Given the description of an element on the screen output the (x, y) to click on. 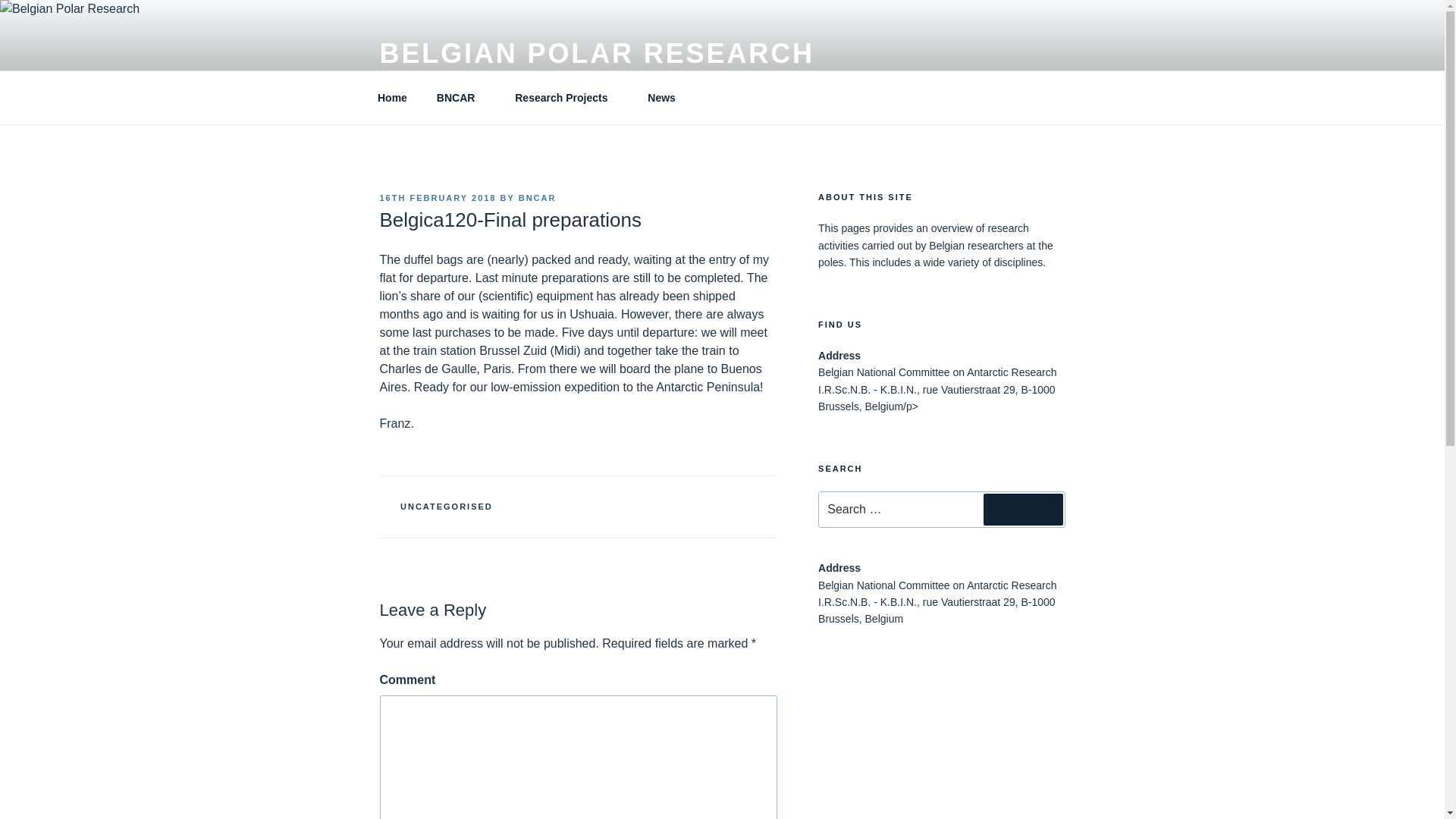
Search (1023, 509)
Home (392, 97)
BNCAR (461, 97)
BNCAR (537, 197)
UNCATEGORISED (446, 506)
16TH FEBRUARY 2018 (437, 197)
BELGIAN POLAR RESEARCH (595, 52)
News (661, 97)
Research Projects (566, 97)
